Given the description of an element on the screen output the (x, y) to click on. 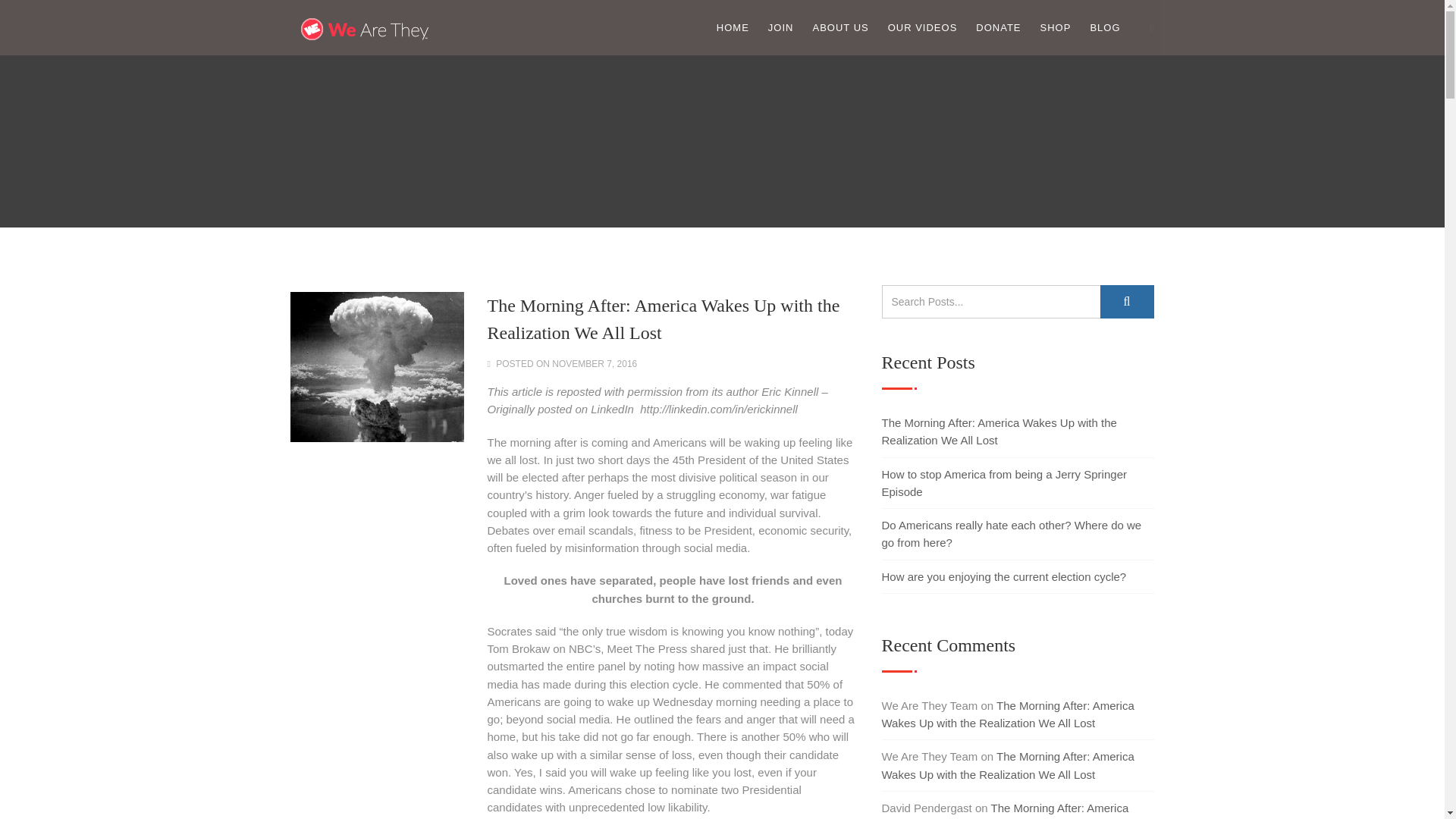
DONATE (997, 27)
OUR VIDEOS (923, 27)
ABOUT US (839, 27)
